Given the description of an element on the screen output the (x, y) to click on. 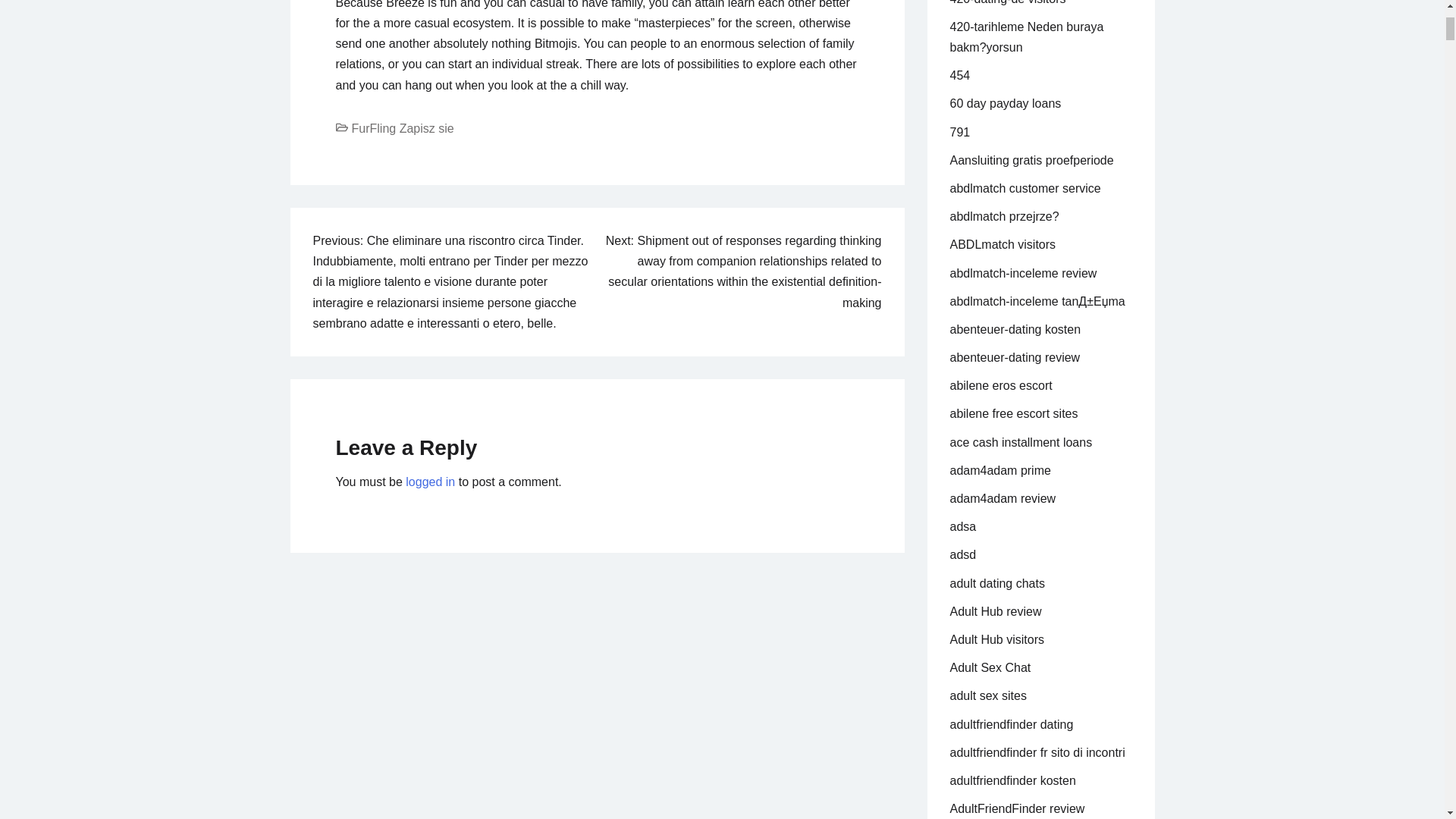
logged in (430, 481)
FurFling Zapisz sie (403, 128)
